Given the description of an element on the screen output the (x, y) to click on. 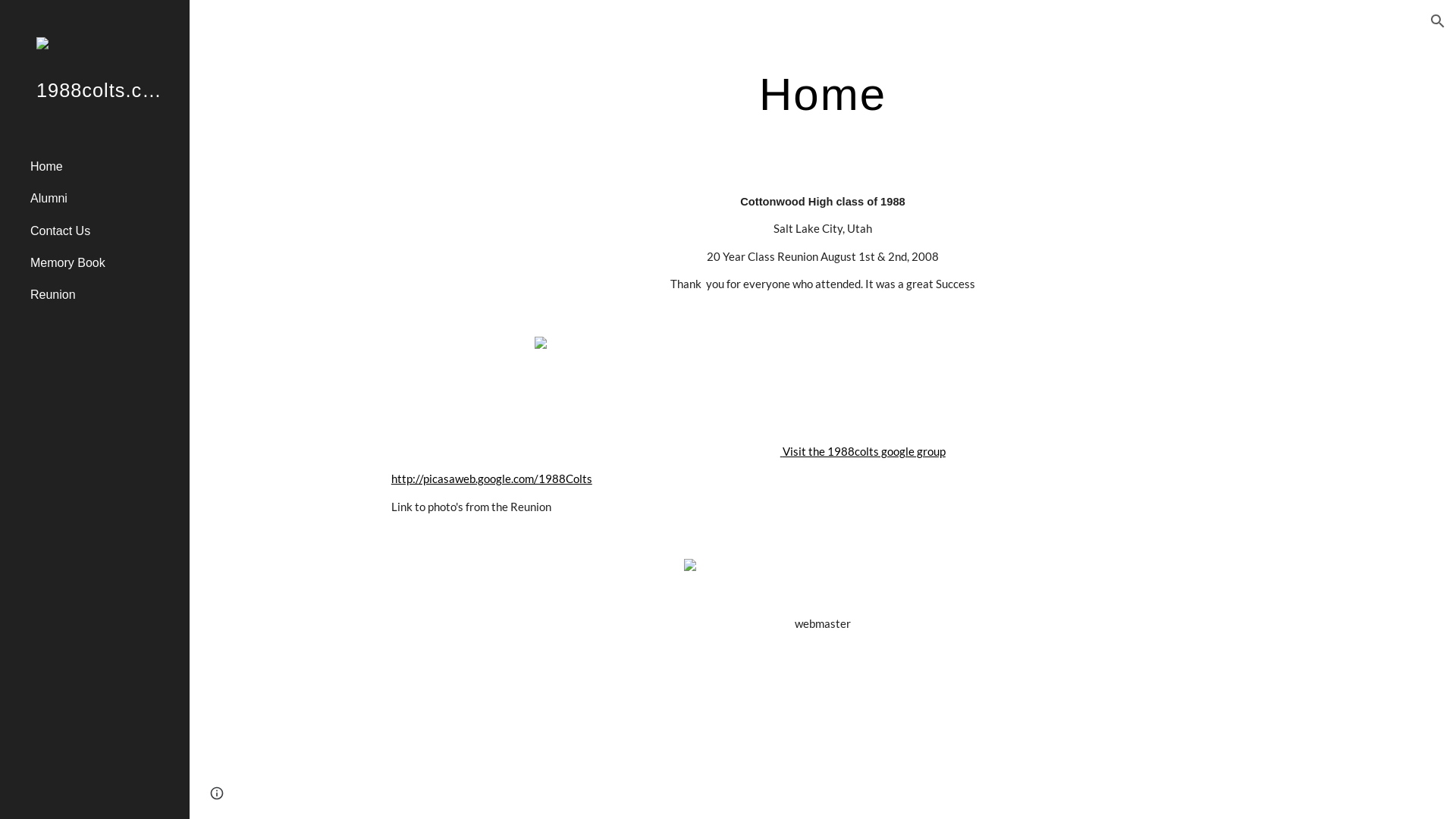
Contact Us Element type: text (103, 230)
Alumni Element type: text (103, 198)
Reunion Element type: text (103, 294)
1988colts.com Element type: text (94, 109)
Home Element type: text (103, 166)
Visit the 1988colts google group Element type: text (863, 451)
  Element type: text (781, 451)
Memory Book Element type: text (103, 263)
http://picasaweb.google.com/1988Colts Element type: text (491, 478)
